Given the description of an element on the screen output the (x, y) to click on. 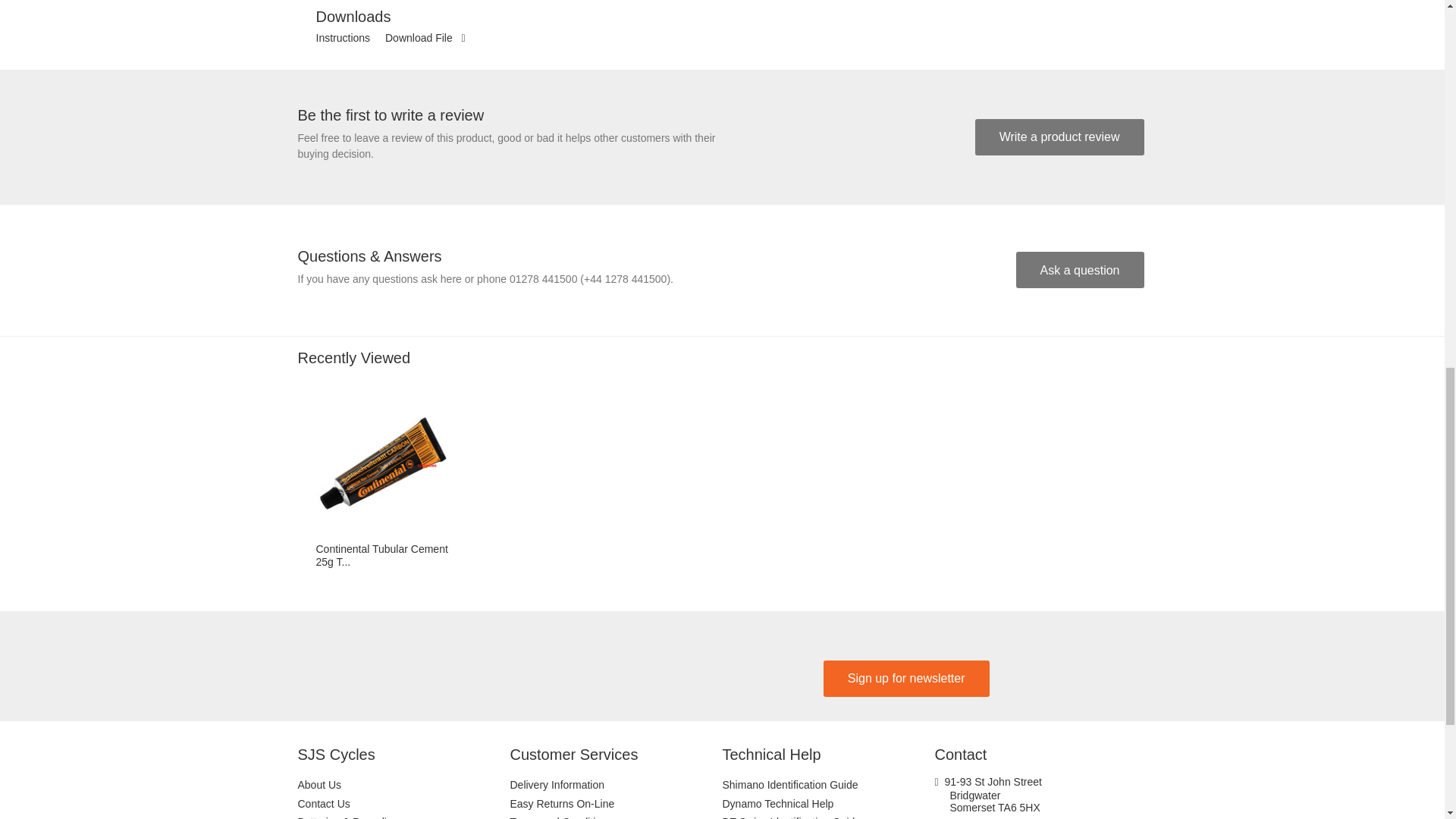
Sign up for newsletter (907, 678)
Terms and Conditions (615, 816)
Easy Returns On-Line (615, 804)
About Us (403, 784)
Ask a question (1080, 269)
Sign up for newsletter (907, 678)
Delivery Information (615, 784)
DT Swiss Identification Guide (828, 816)
Continental Tubular Cement 25g Tube for Carbon Rims (381, 463)
Contact Us (403, 804)
Write a product review (1059, 136)
Shimano Identification Guide (828, 784)
Dynamo Technical Help (828, 804)
